Given the description of an element on the screen output the (x, y) to click on. 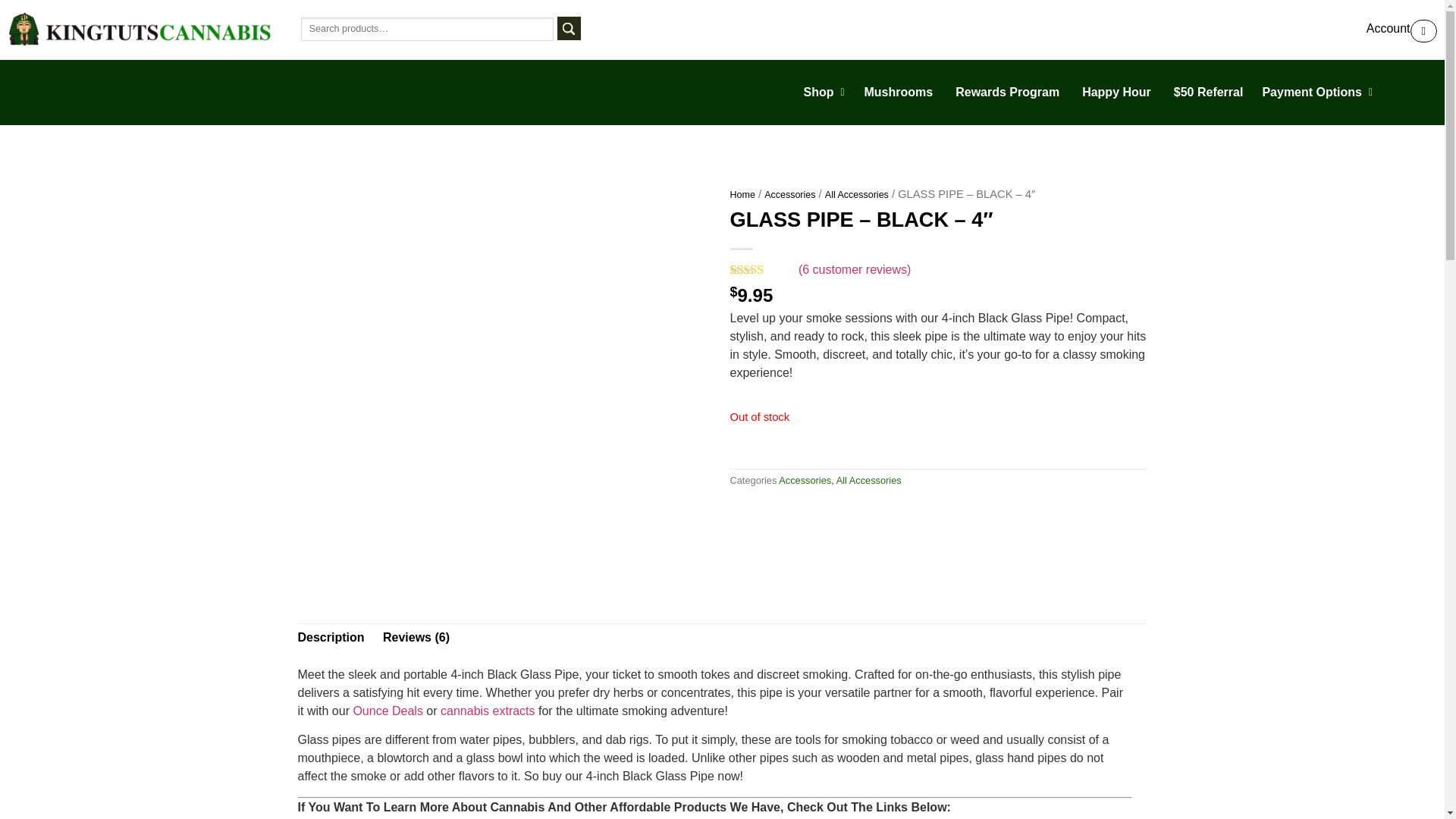
Account (1380, 28)
Shop (824, 92)
My Basket (1423, 30)
Search (568, 28)
